Given the description of an element on the screen output the (x, y) to click on. 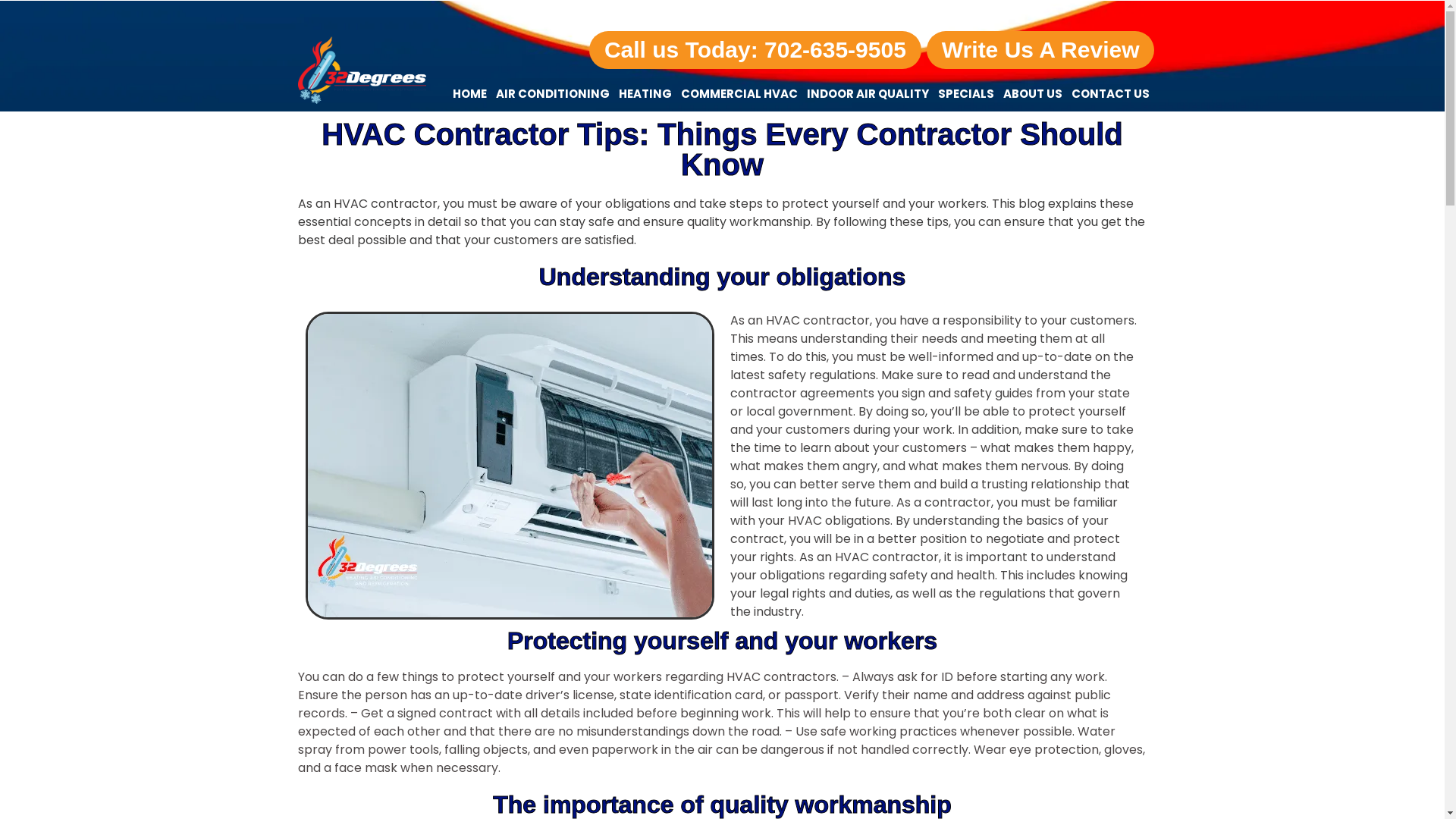
COMMERCIAL HVAC Element type: text (739, 93)
INDOOR AIR QUALITY Element type: text (867, 93)
ABOUT US Element type: text (1032, 93)
Call us Today: 702-635-9505 Element type: text (755, 50)
SPECIALS Element type: text (965, 93)
HOME Element type: text (469, 93)
HEATING Element type: text (645, 93)
CONTACT US Element type: text (1110, 93)
Write Us A Review Element type: text (1040, 50)
AIR CONDITIONING Element type: text (552, 93)
